Given the description of an element on the screen output the (x, y) to click on. 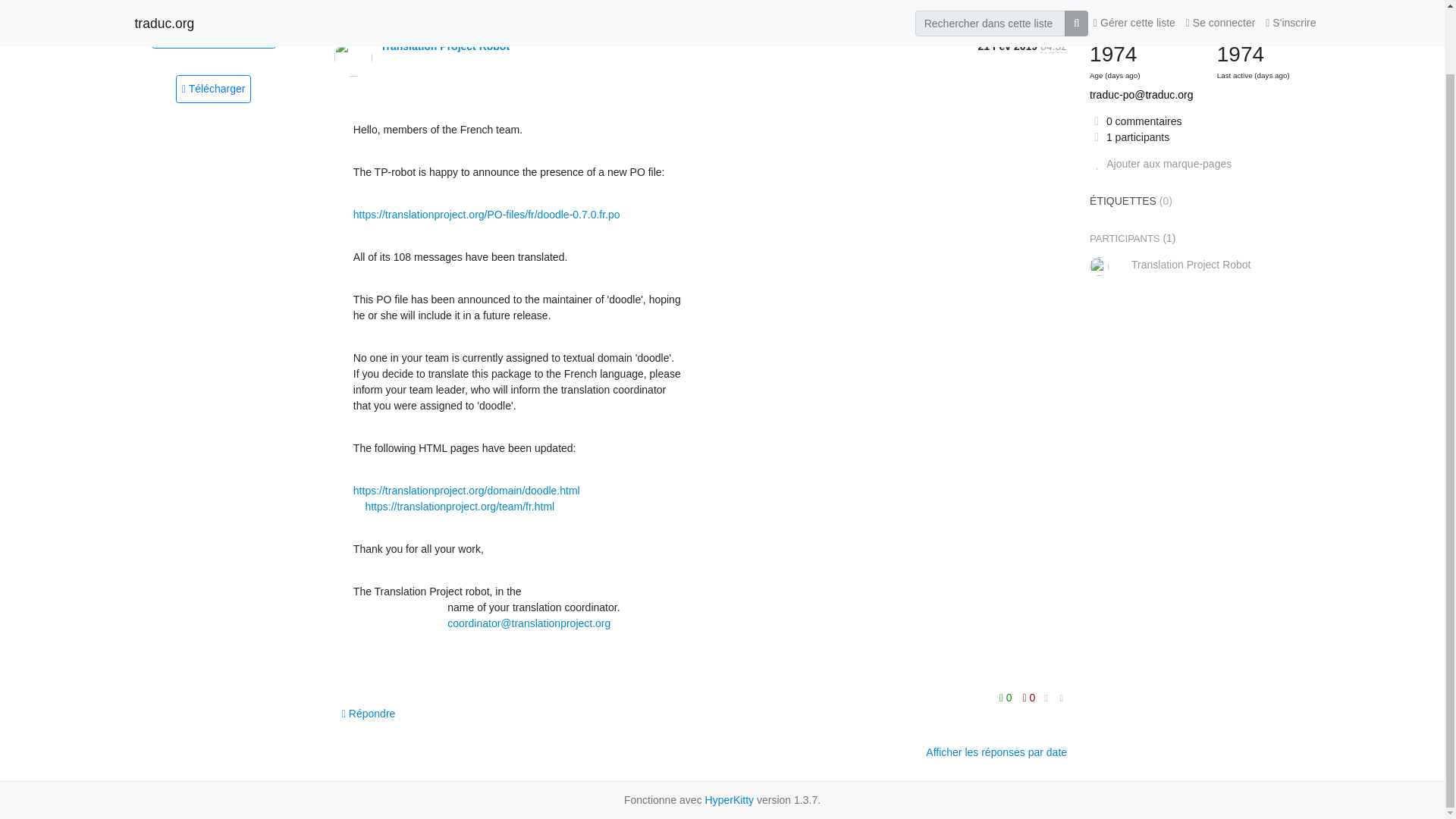
Voir le profil pour Translation Project Robot (444, 46)
Vue de la liste (213, 4)
Lien permanent pour ce message (1061, 698)
Vous devez vous connecter pour placer des marques. (1160, 163)
Toutes les discussions (213, 34)
